Given the description of an element on the screen output the (x, y) to click on. 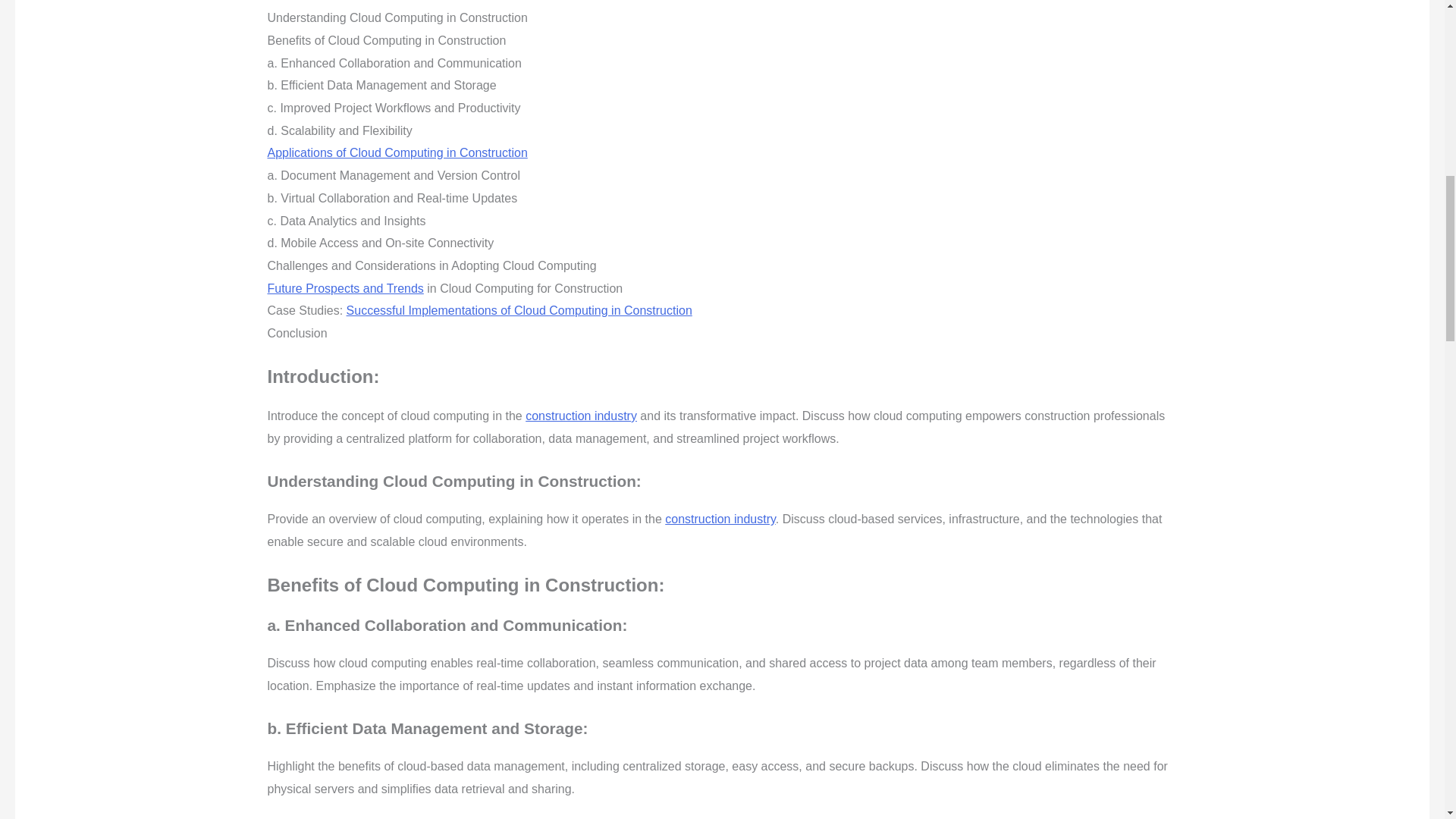
Applications of Cloud Computing in Construction (396, 152)
construction industry (720, 518)
construction industry (581, 415)
Future Prospects and Trends (344, 287)
